Given the description of an element on the screen output the (x, y) to click on. 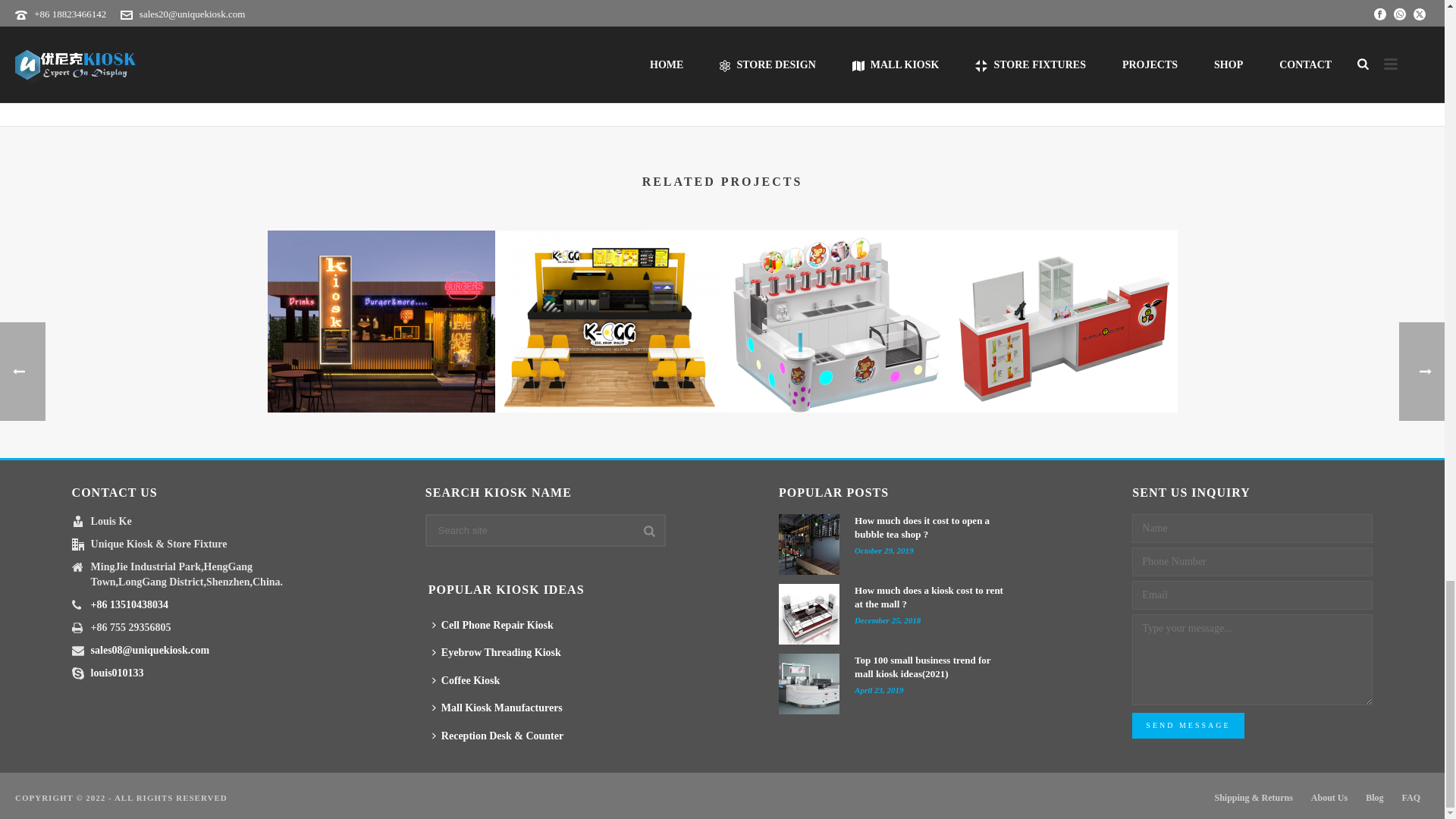
How much does it cost to open a bubble tea shop ? (809, 544)
How much does a kiosk cost to rent at the mall ? (809, 613)
